Given the description of an element on the screen output the (x, y) to click on. 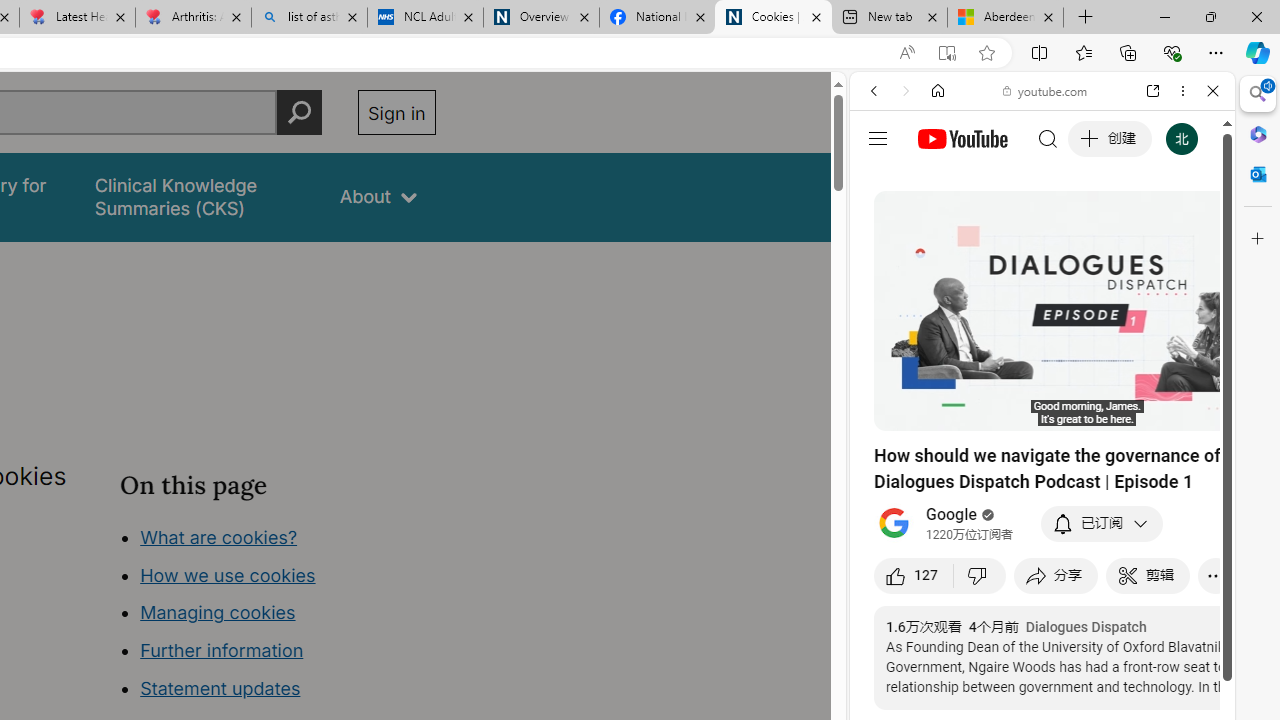
What are cookies? (218, 536)
About (378, 196)
Preferences (1189, 228)
This site scope (936, 180)
list of asthma inhalers uk - Search (309, 17)
